Given the description of an element on the screen output the (x, y) to click on. 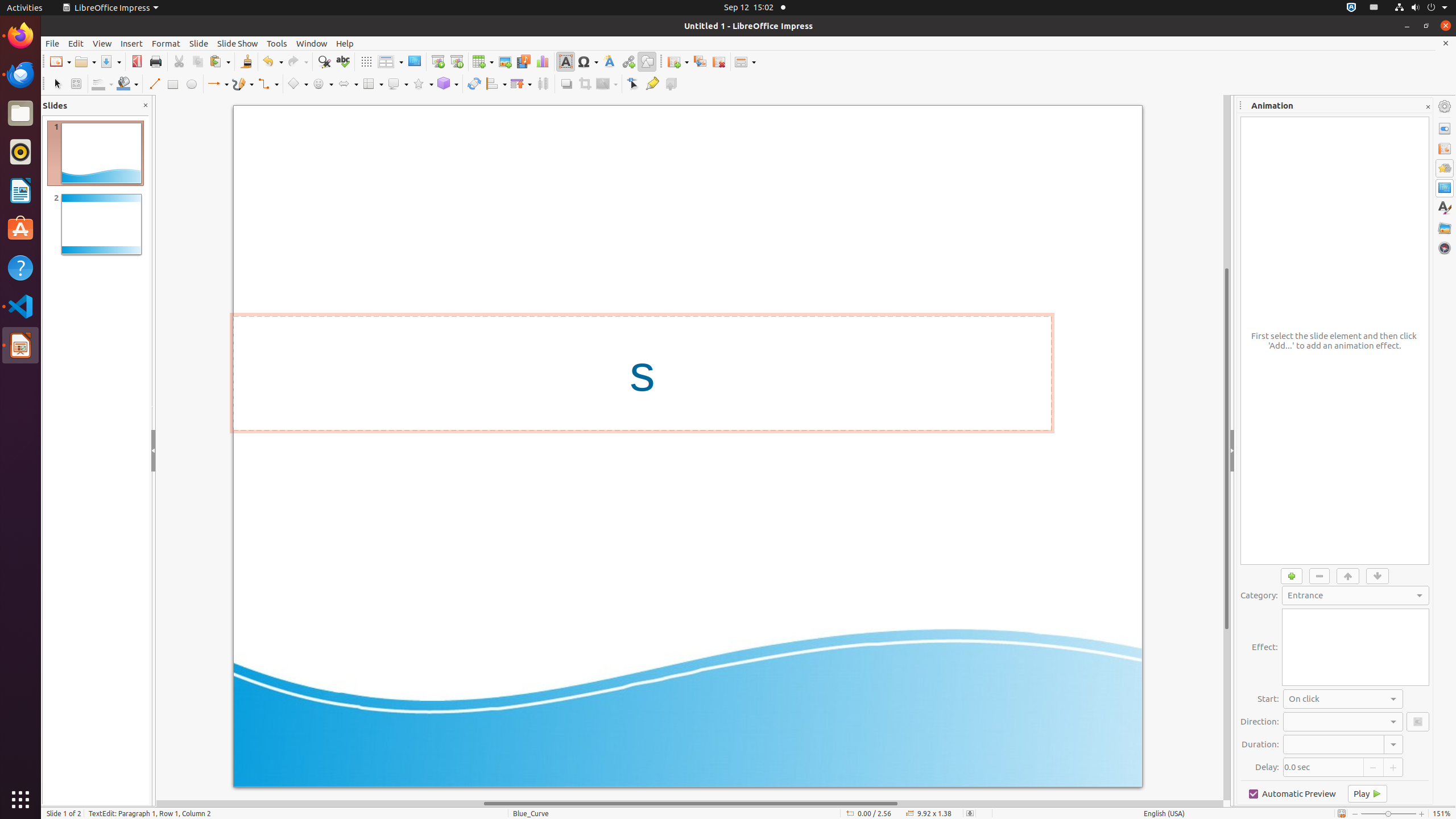
Delete Slide Element type: push-button (718, 61)
Rectangle Element type: push-button (172, 83)
Distribution Element type: push-button (542, 83)
Vertical scroll bar Element type: scroll-bar (1226, 447)
LibreOffice Impress Element type: menu (109, 7)
